Given the description of an element on the screen output the (x, y) to click on. 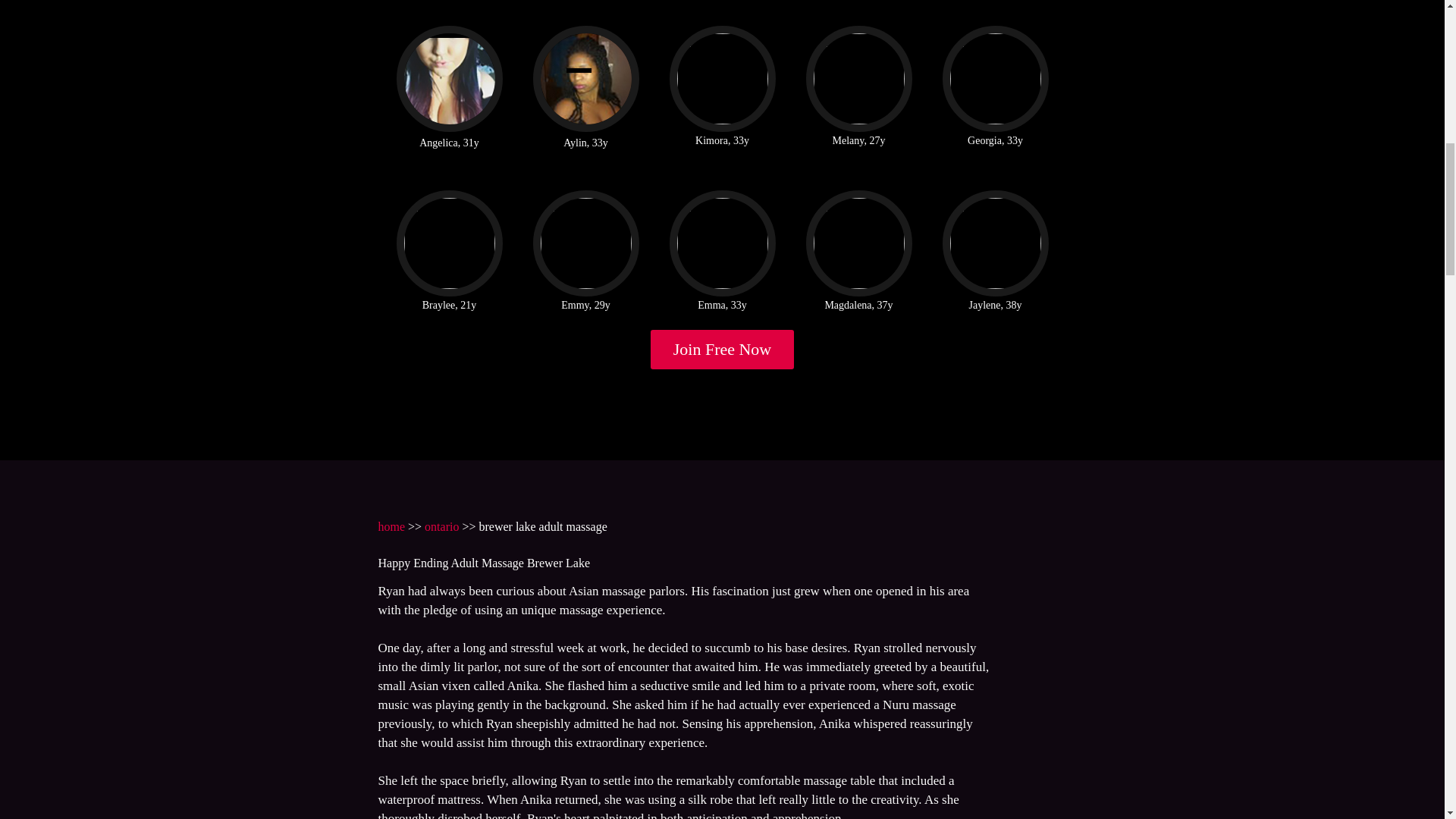
home (390, 526)
Join Free Now (722, 349)
Join (722, 349)
ontario (441, 526)
